Given the description of an element on the screen output the (x, y) to click on. 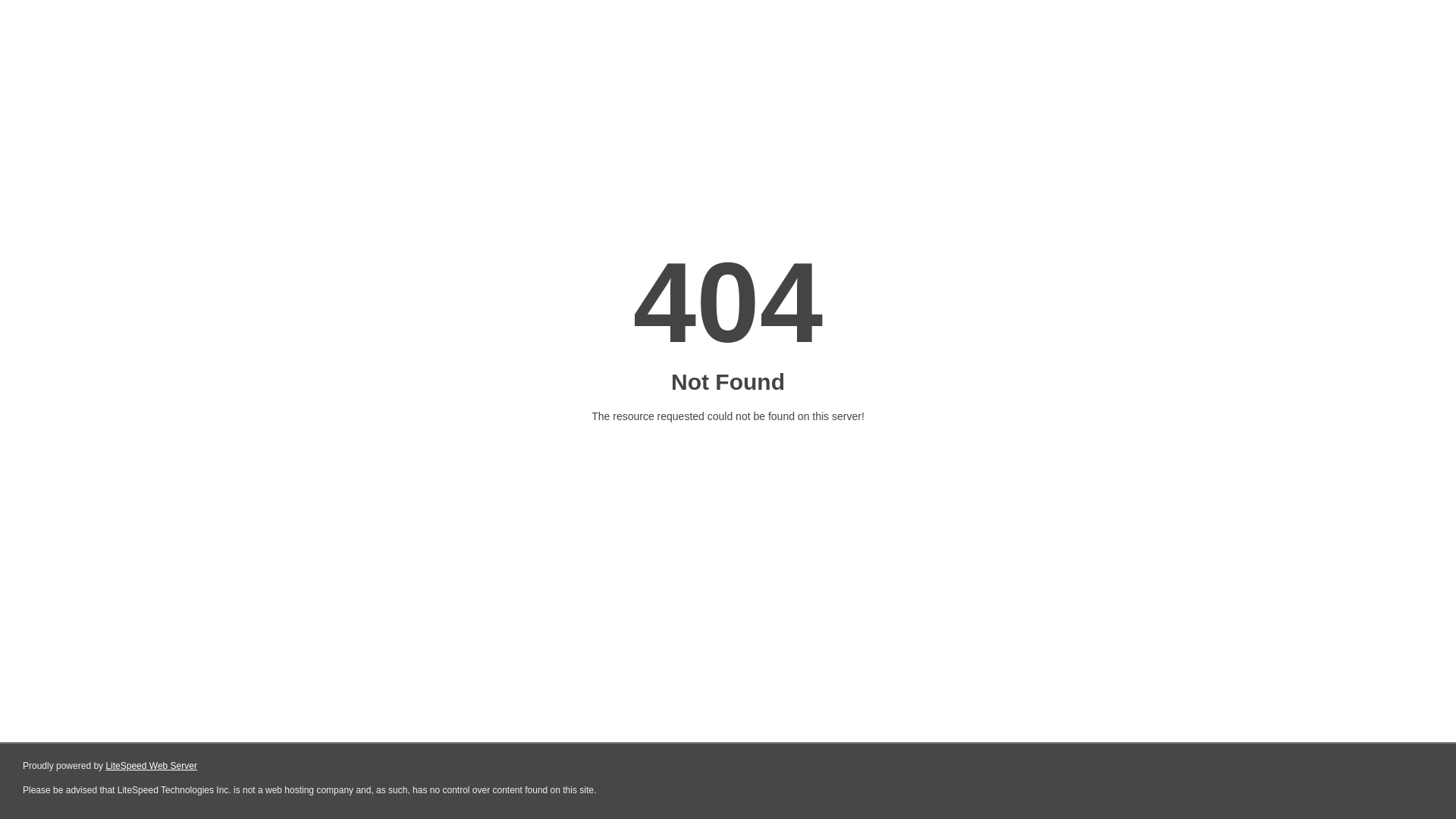
LiteSpeed Web Server Element type: text (151, 765)
